Given the description of an element on the screen output the (x, y) to click on. 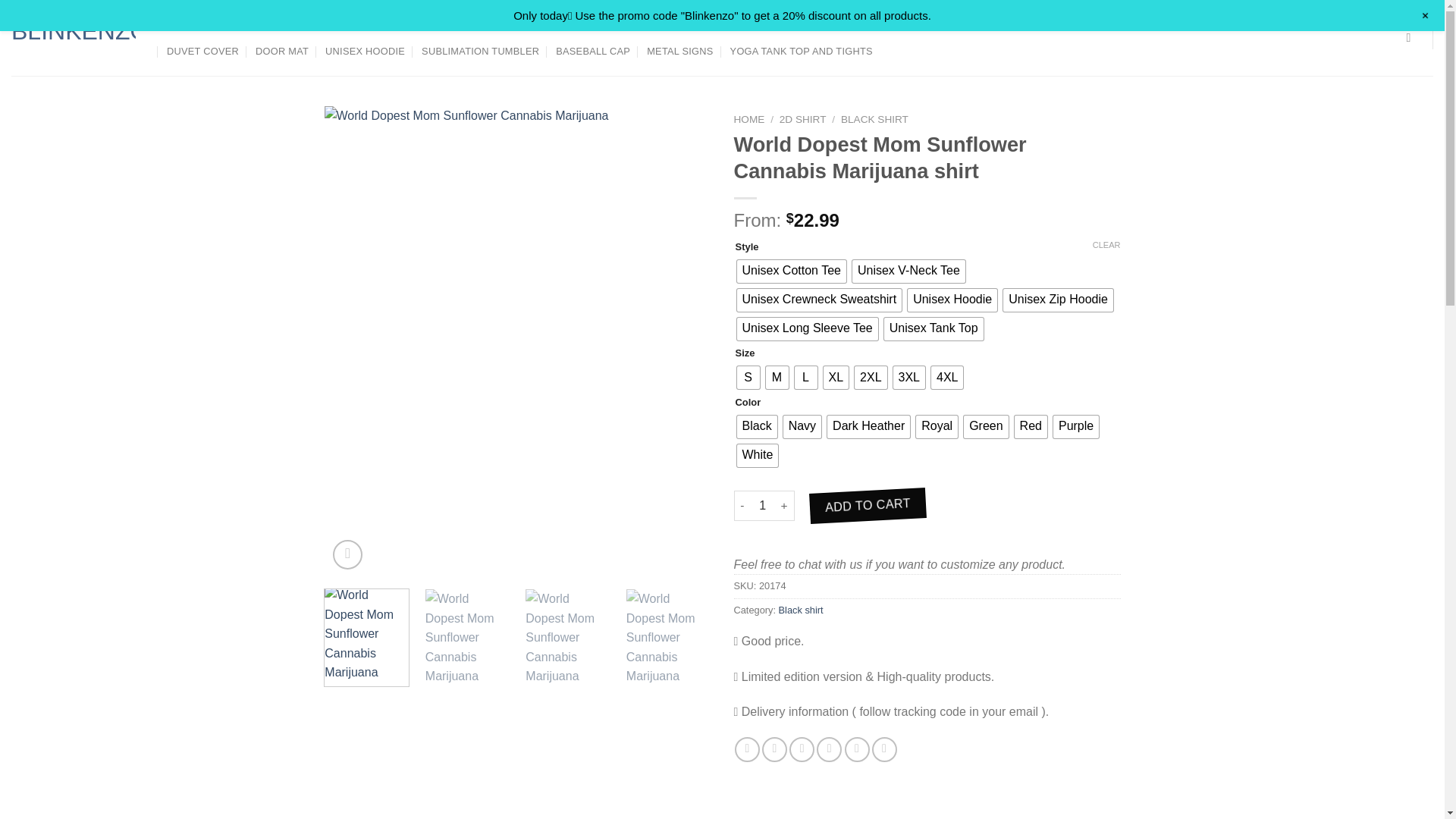
Unisex Hoodie (952, 300)
XMAS TREE ORNAMENT (1184, 23)
SWEATERS (298, 23)
Unisex Cotton Tee (790, 271)
POSTER (178, 23)
Zoom (347, 554)
UNISEX HOODIE (364, 51)
Blinkenzo - Shop t-shirts online in USA (73, 37)
BEACH SHIRT AND SWIM TRUNK (597, 23)
Unisex Long Sleeve Tee (806, 328)
BASEBALL CAP (593, 51)
Unisex V-Neck Tee (908, 271)
HOME (749, 119)
SHERPA BLANKET (1303, 23)
Unisex Tank Top (933, 328)
